Given the description of an element on the screen output the (x, y) to click on. 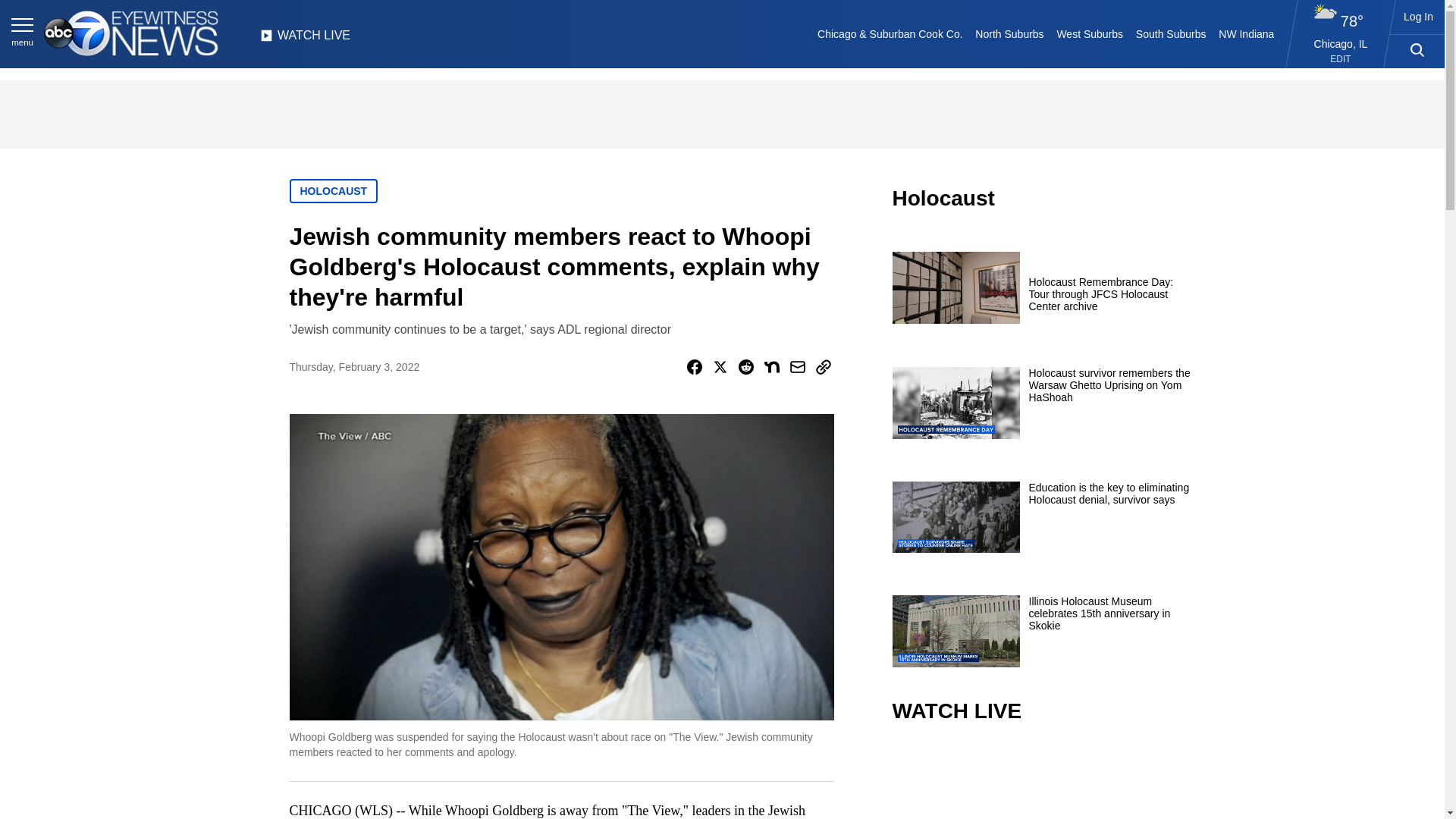
EDIT (1340, 59)
North Suburbs (1009, 33)
South Suburbs (1170, 33)
Chicago, IL (1340, 43)
WATCH LIVE (305, 39)
West Suburbs (1089, 33)
NW Indiana (1246, 33)
video.title (1043, 782)
